Given the description of an element on the screen output the (x, y) to click on. 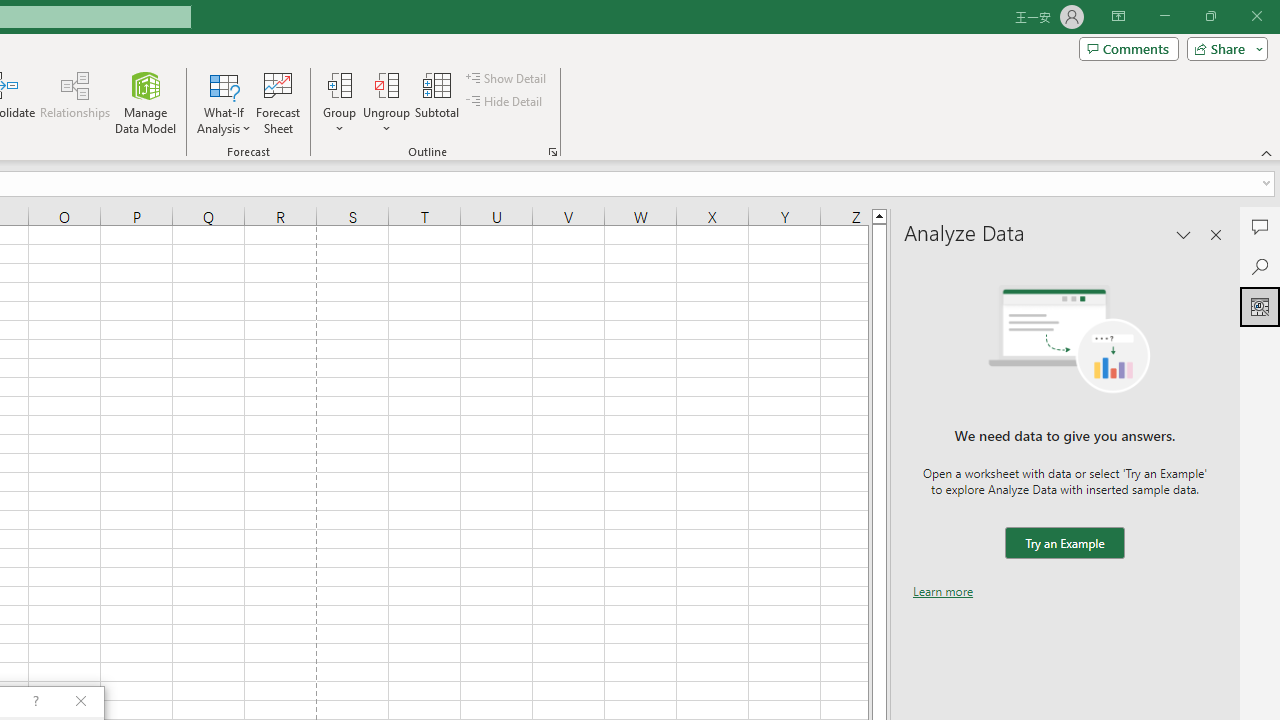
Group and Outline Settings (552, 151)
Analyze Data (1260, 306)
Search (1260, 266)
Show Detail (507, 78)
Manage Data Model (145, 102)
Relationships (75, 102)
Subtotal (437, 102)
